Given the description of an element on the screen output the (x, y) to click on. 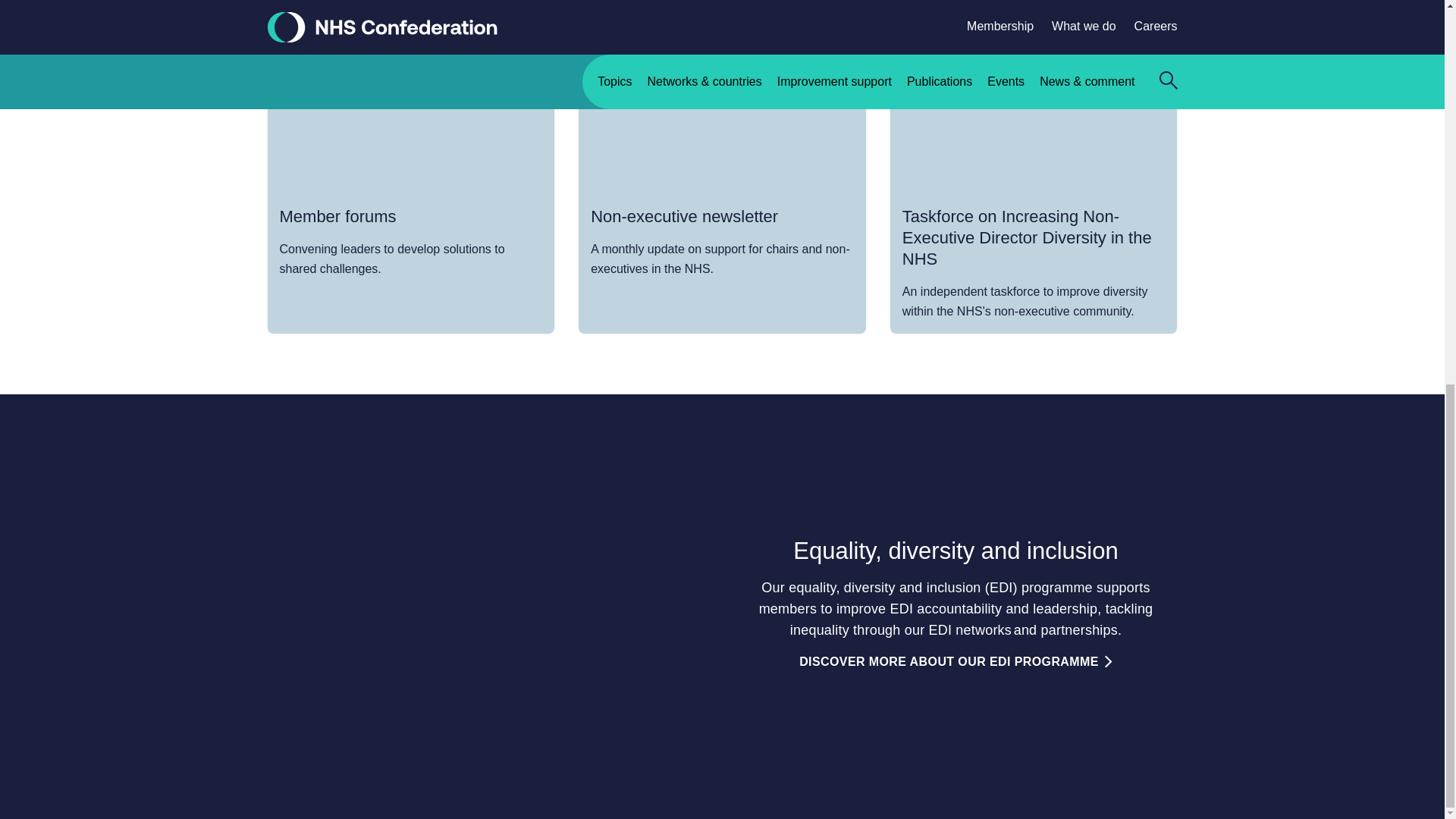
Contact us (295, 27)
Twitter logo (1089, 63)
Member forums (410, 182)
Youtube icon (1142, 62)
Linkedin icon (1116, 62)
Youtube icon (1142, 64)
Non-executive newsletter (722, 182)
Privacy (362, 27)
Accessibility (524, 27)
RSS icon (1168, 61)
Twitter logo (1089, 62)
Newsletters (608, 27)
